Given the description of an element on the screen output the (x, y) to click on. 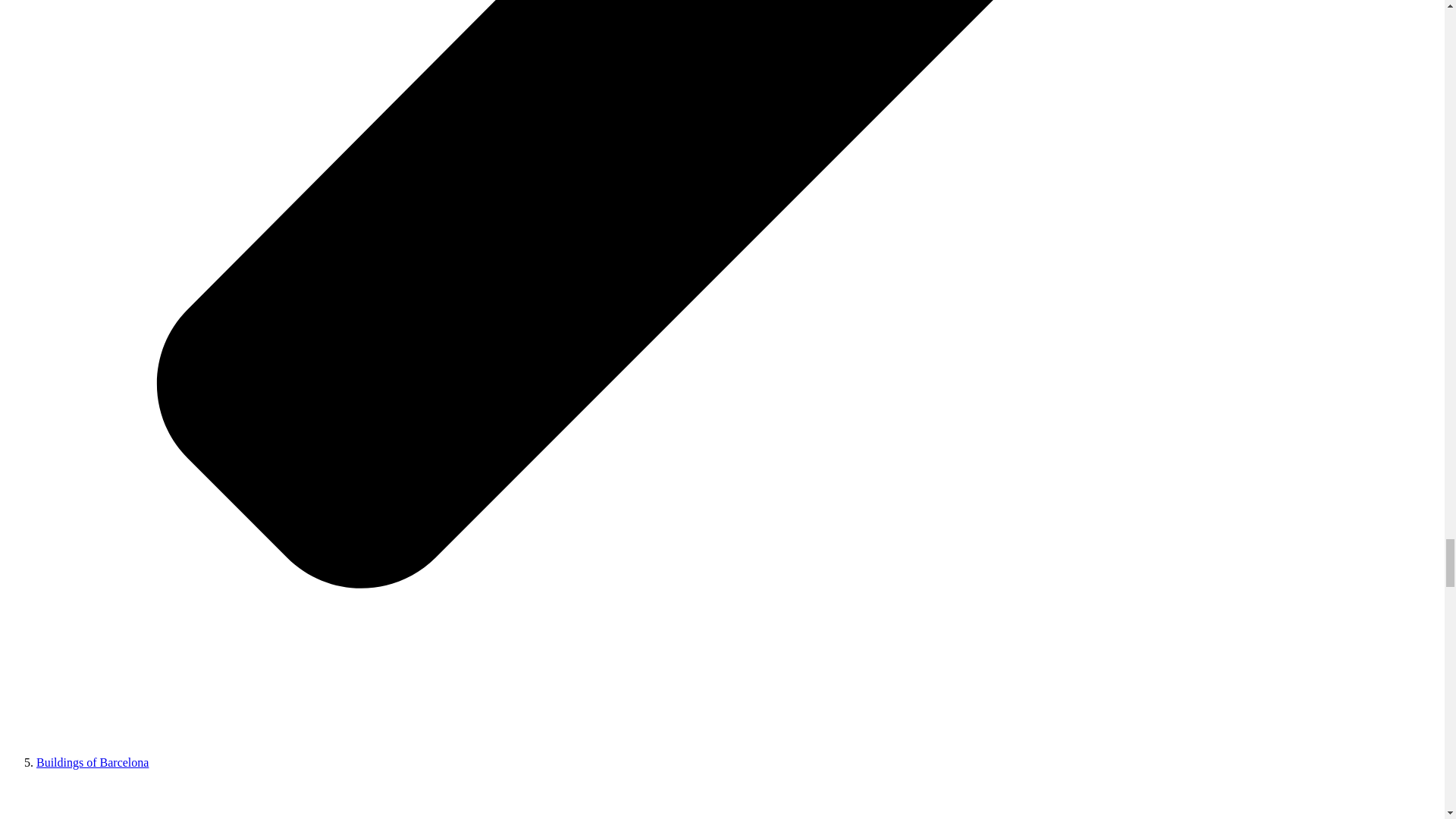
Buildings of Barcelona (92, 762)
